Given the description of an element on the screen output the (x, y) to click on. 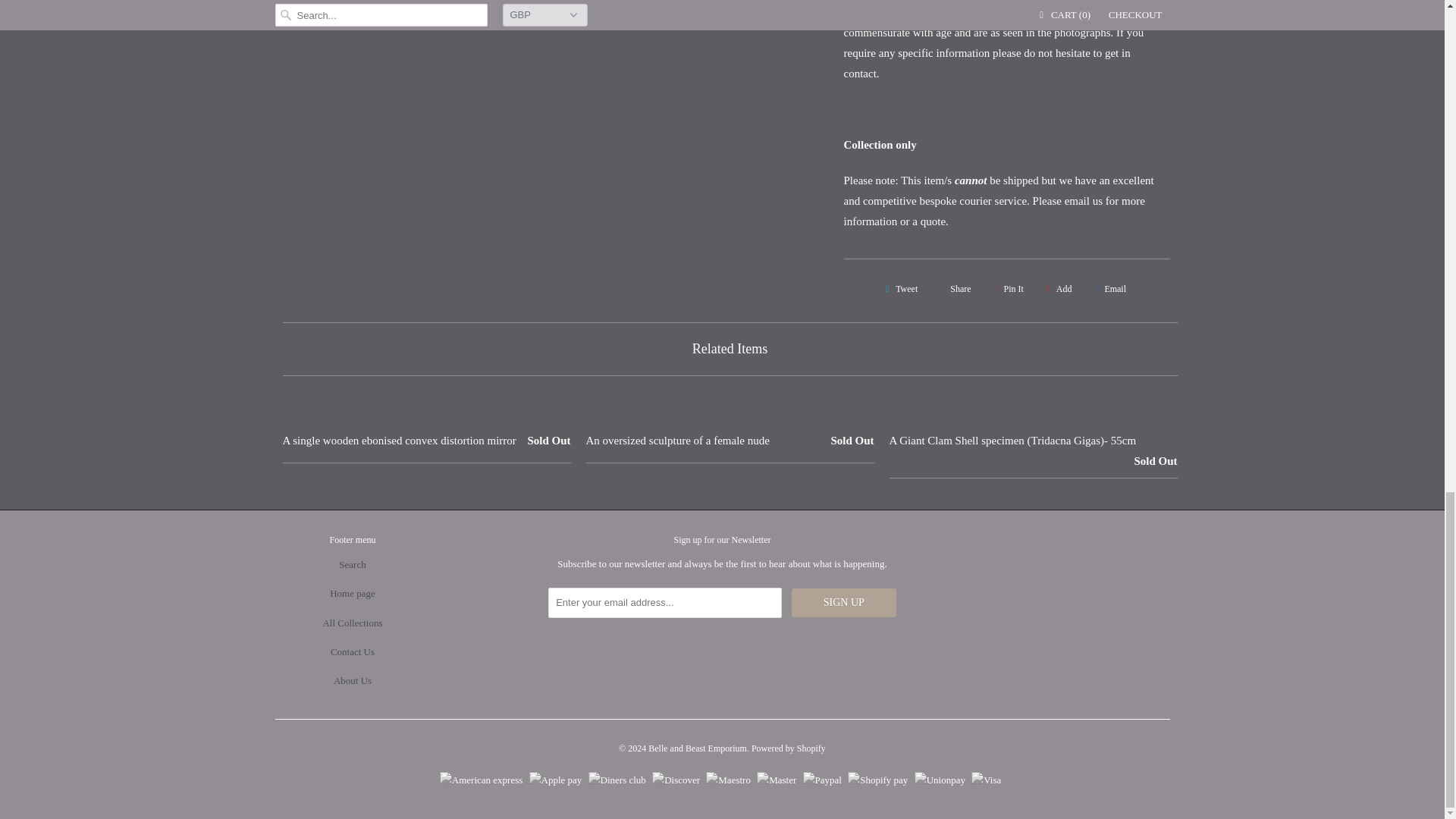
Email this to a friend (1107, 288)
Share this on Pinterest (1005, 288)
Share this on Facebook (953, 288)
Pin It (1005, 288)
Sign Up (844, 602)
Share (953, 288)
Email (1107, 288)
Add (1056, 288)
Tweet (898, 288)
